Given the description of an element on the screen output the (x, y) to click on. 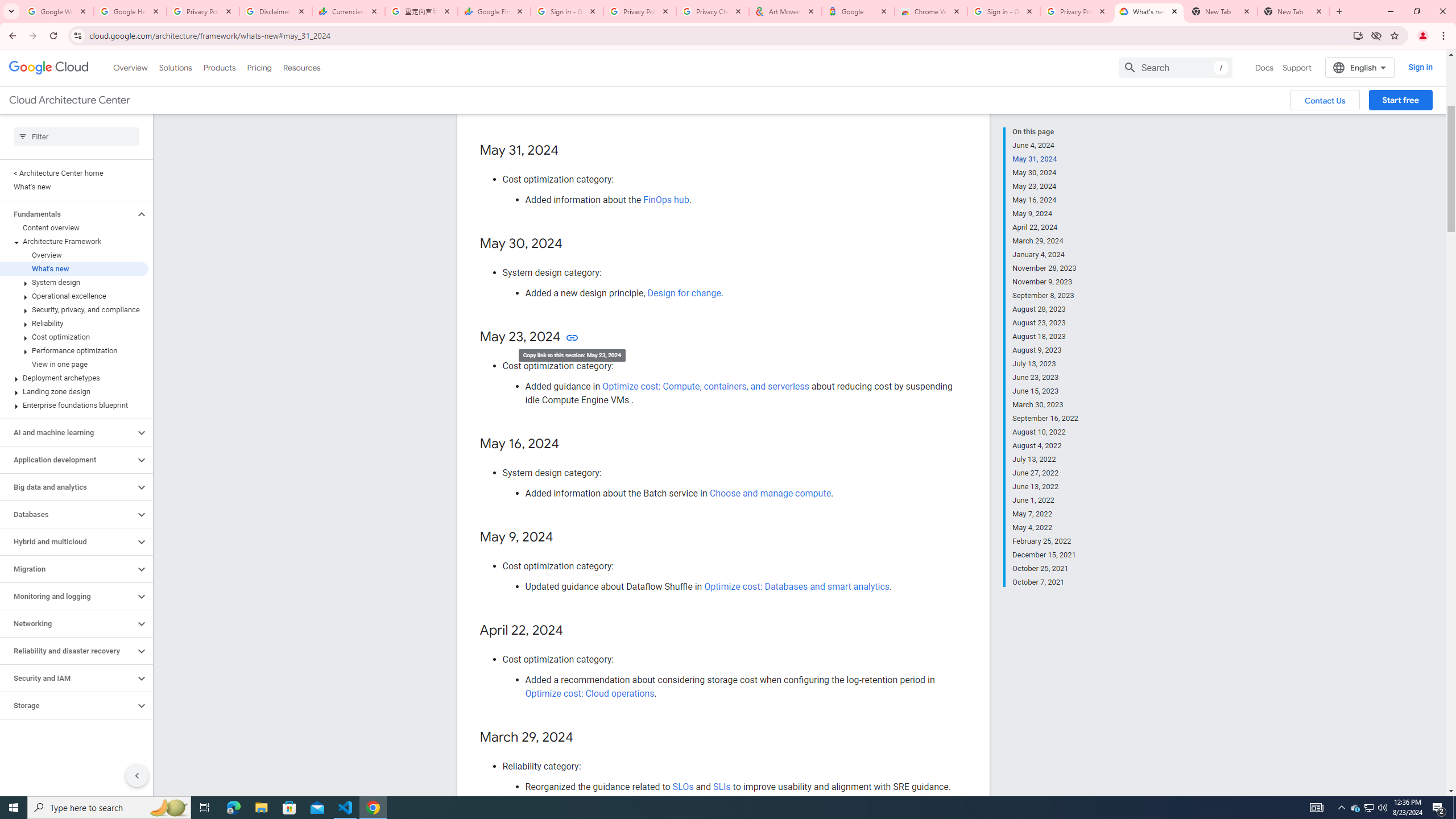
FinOps hub (665, 199)
Privacy Checkup (712, 11)
August 23, 2023 (1044, 323)
July 13, 2022 (1044, 459)
October 7, 2021 (1044, 581)
June 4, 2024 (1044, 145)
Resources (301, 67)
Design for change (683, 292)
Type to filter (76, 136)
monitoring (649, 72)
Currencies - Google Finance (348, 11)
Architecture Framework (74, 241)
